Given the description of an element on the screen output the (x, y) to click on. 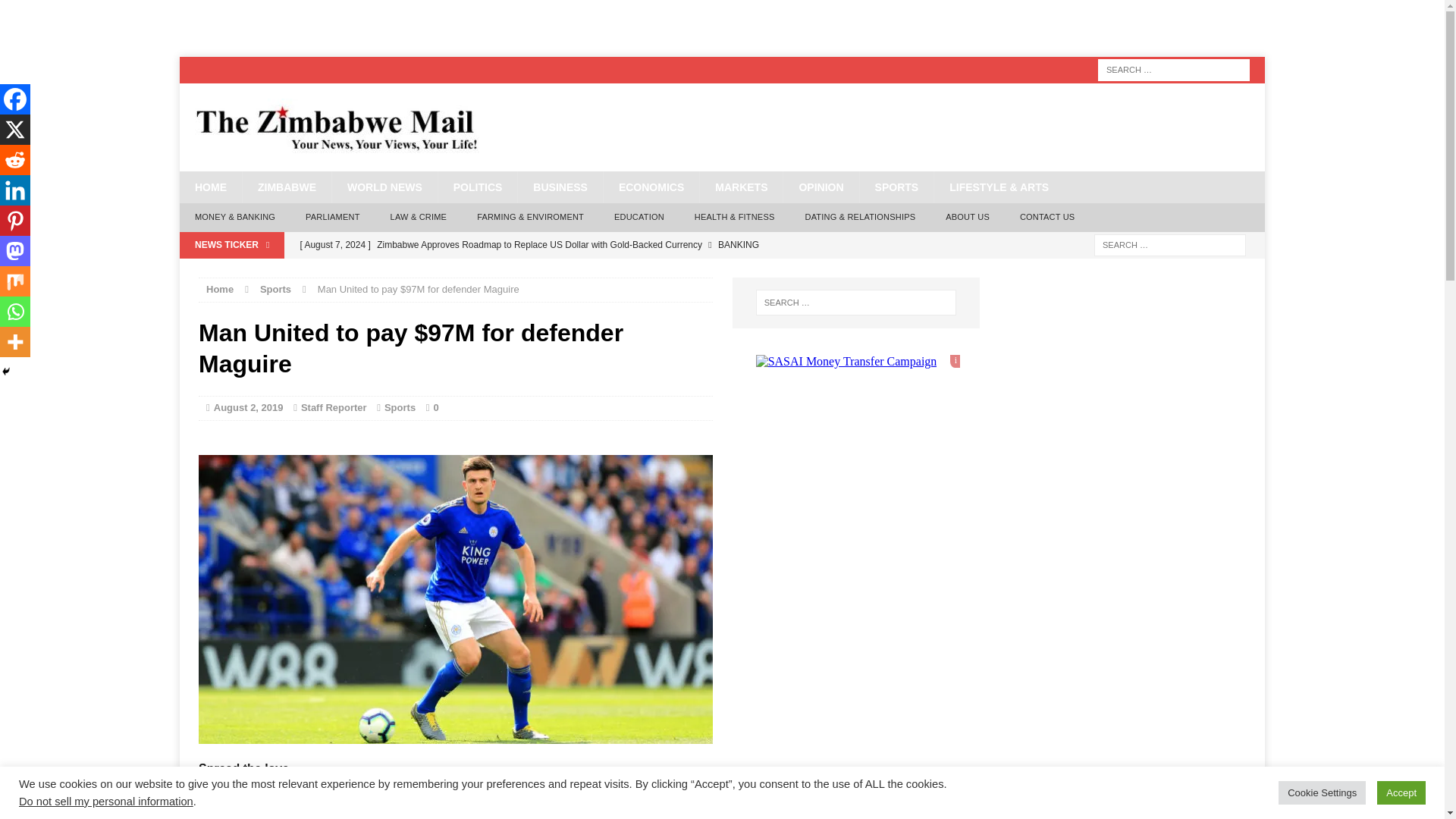
MARKETS (740, 187)
The Zimbabwe Mail (722, 127)
POLITICS (478, 187)
WORLD NEWS (384, 187)
EDUCATION (638, 217)
PARLIAMENT (331, 217)
Pinterest (331, 793)
Facebook (213, 793)
Mastodon (360, 793)
